Given the description of an element on the screen output the (x, y) to click on. 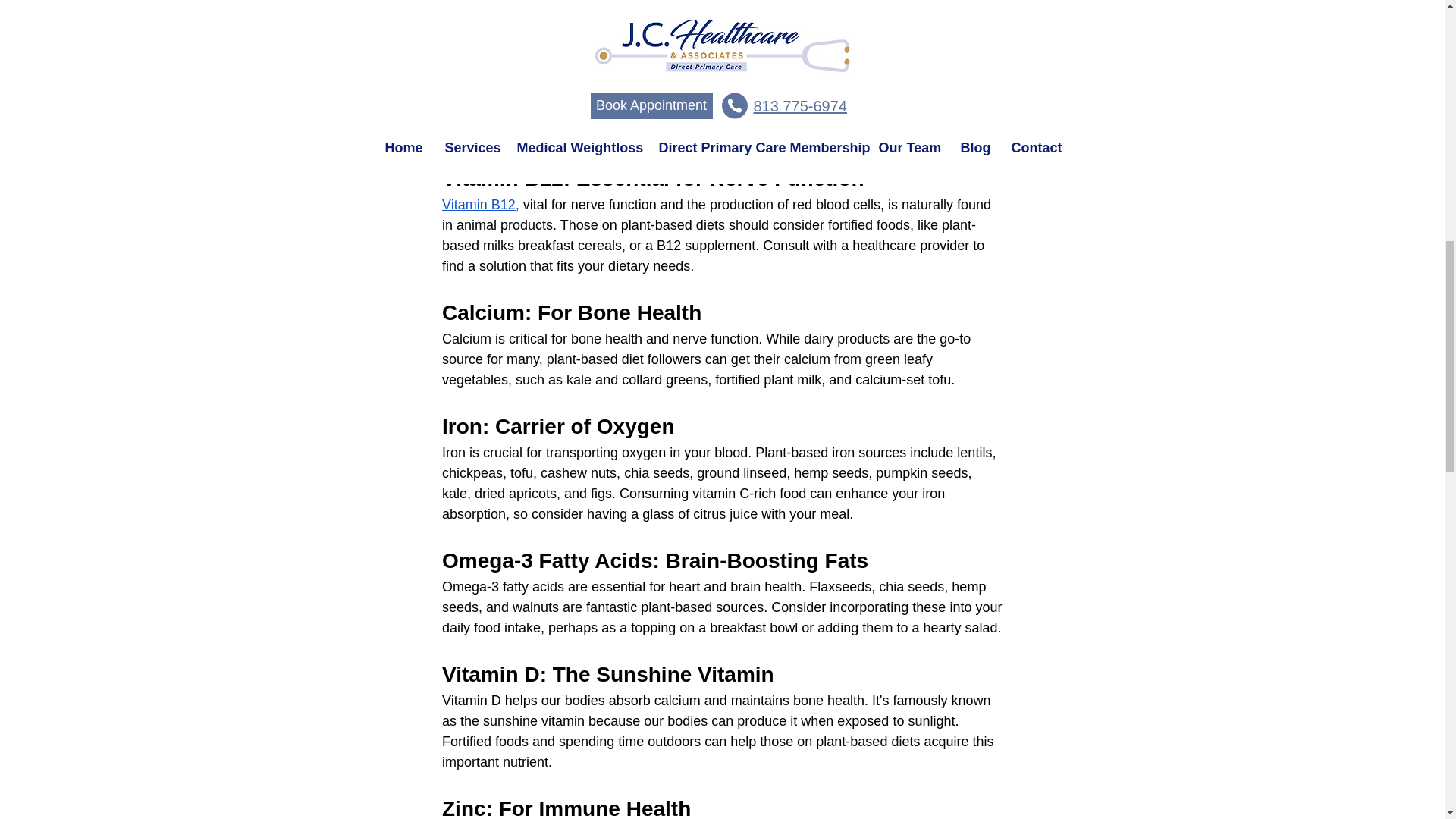
Vitamin B12, (479, 204)
